Given the description of an element on the screen output the (x, y) to click on. 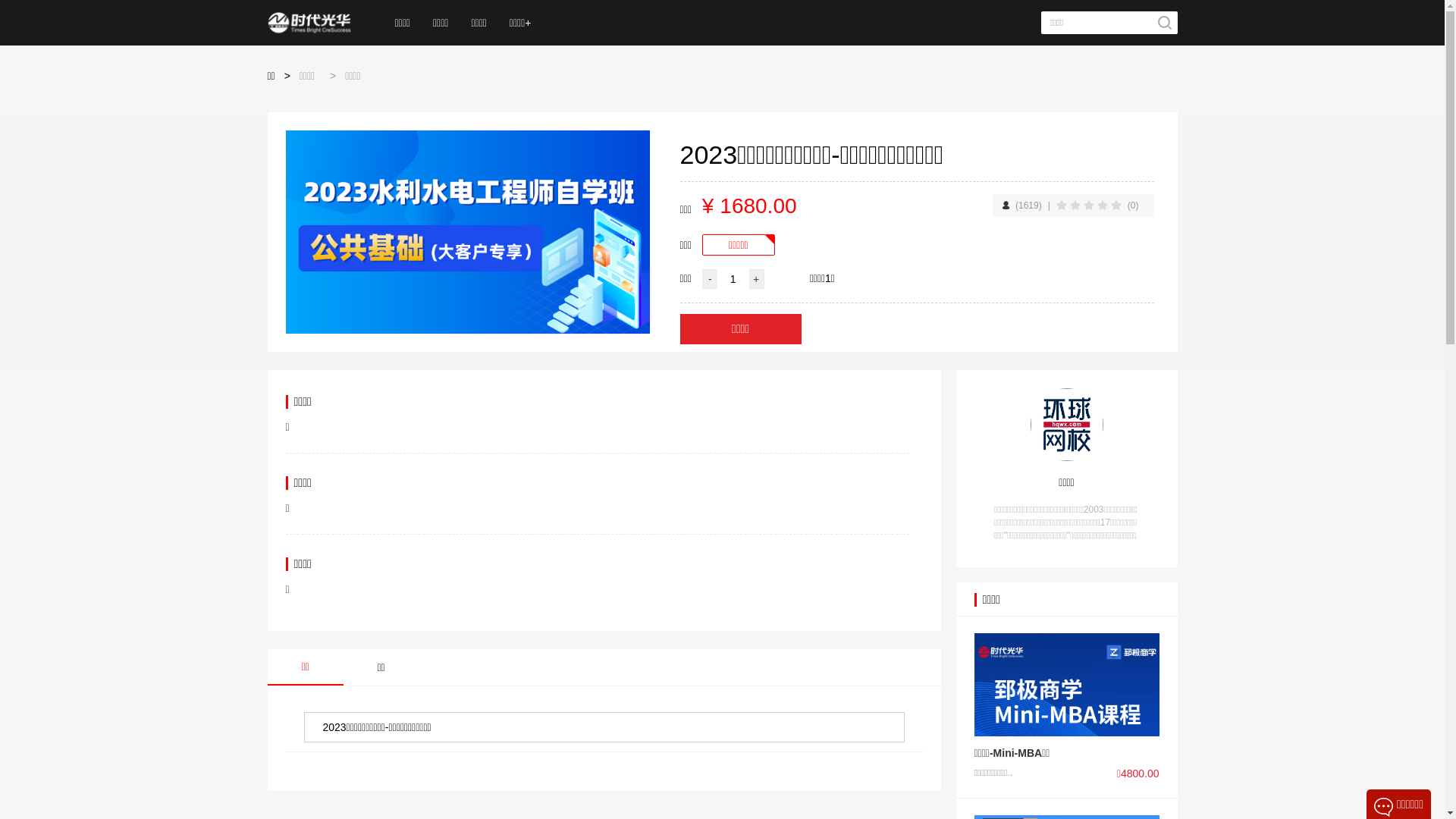
+ Element type: text (756, 278)
- Element type: text (709, 278)
